Given the description of an element on the screen output the (x, y) to click on. 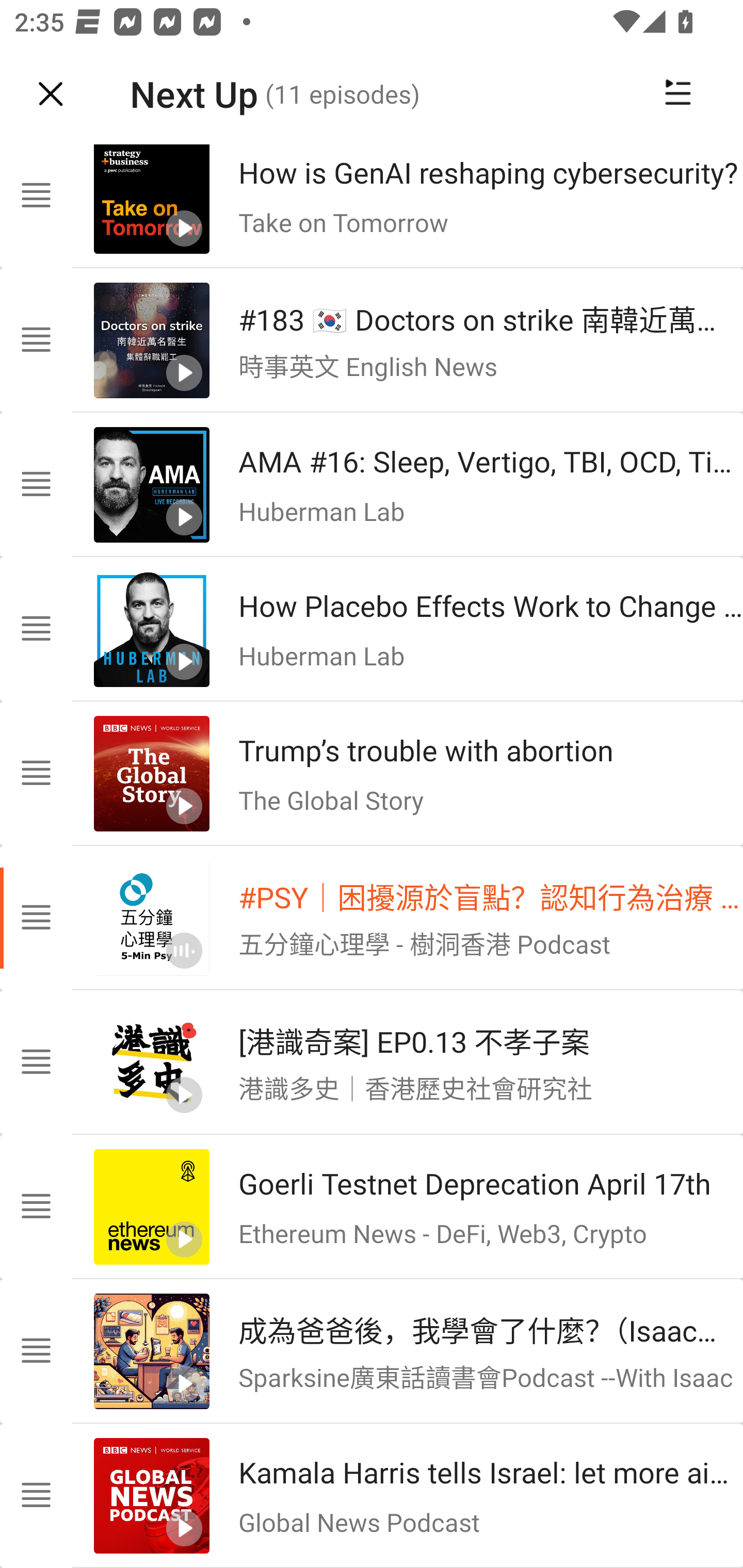
Navigate up (50, 93)
